Given the description of an element on the screen output the (x, y) to click on. 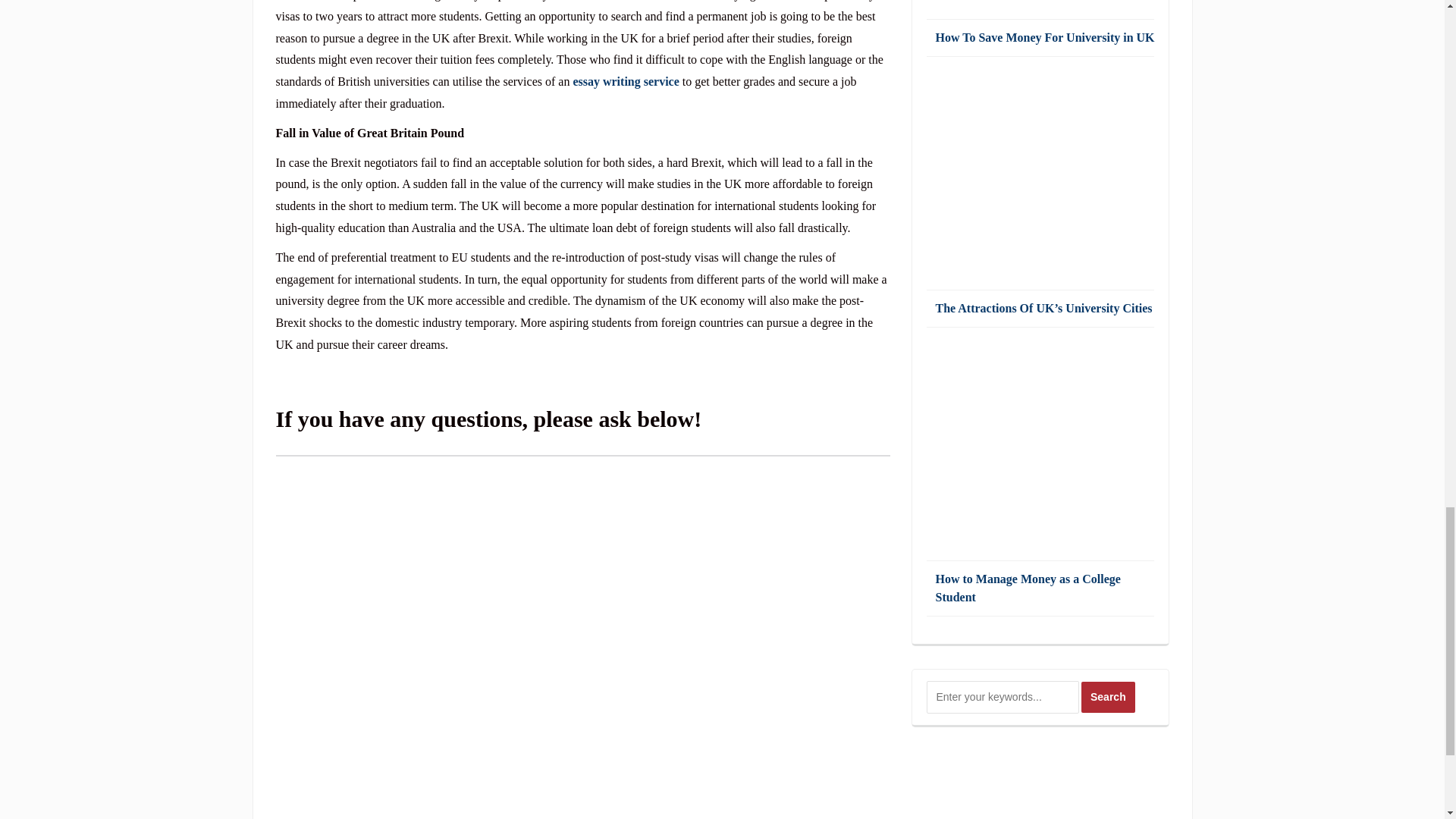
Search (1108, 696)
Search (1108, 696)
